Given the description of an element on the screen output the (x, y) to click on. 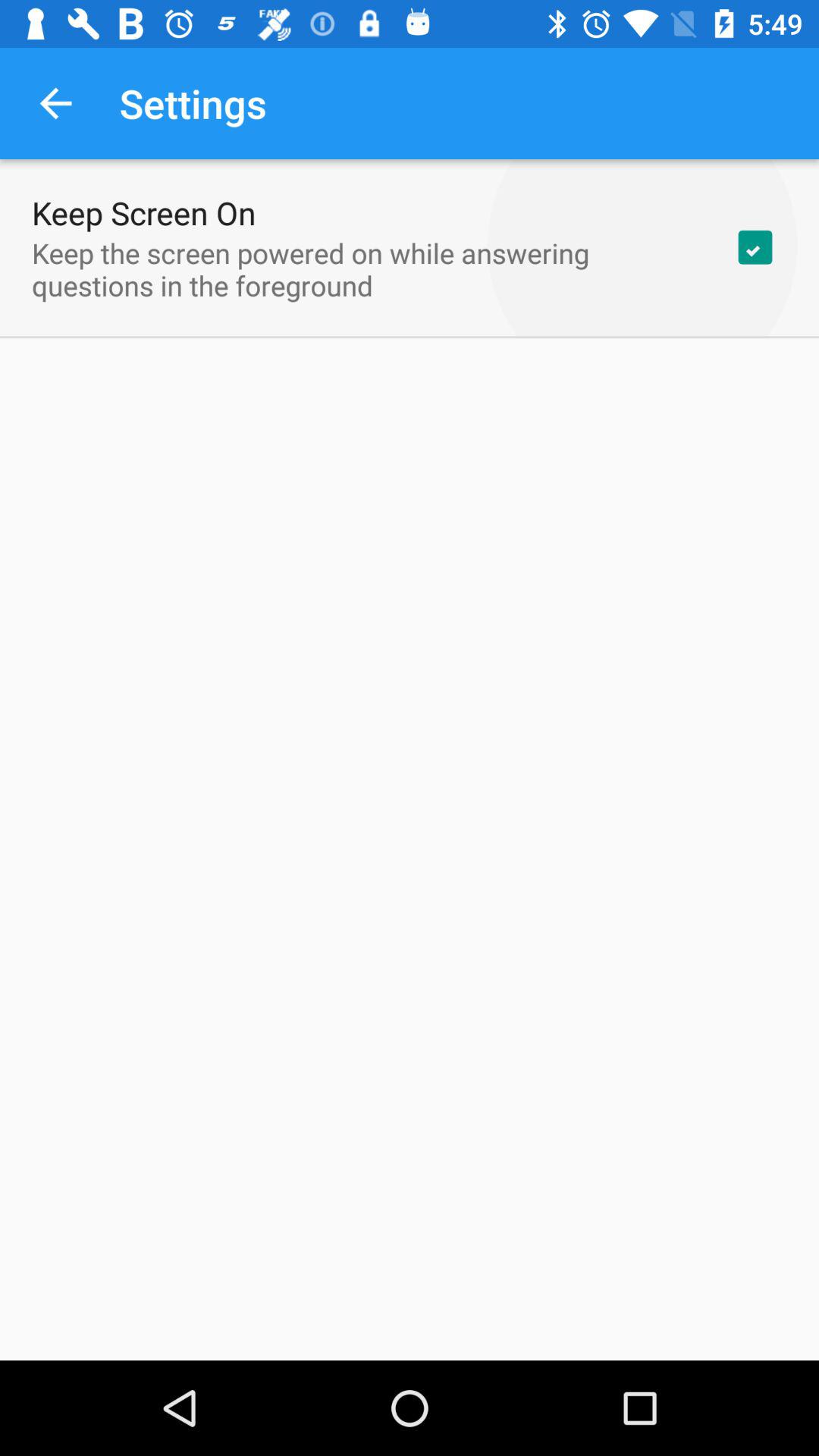
click item to the left of settings icon (55, 103)
